Given the description of an element on the screen output the (x, y) to click on. 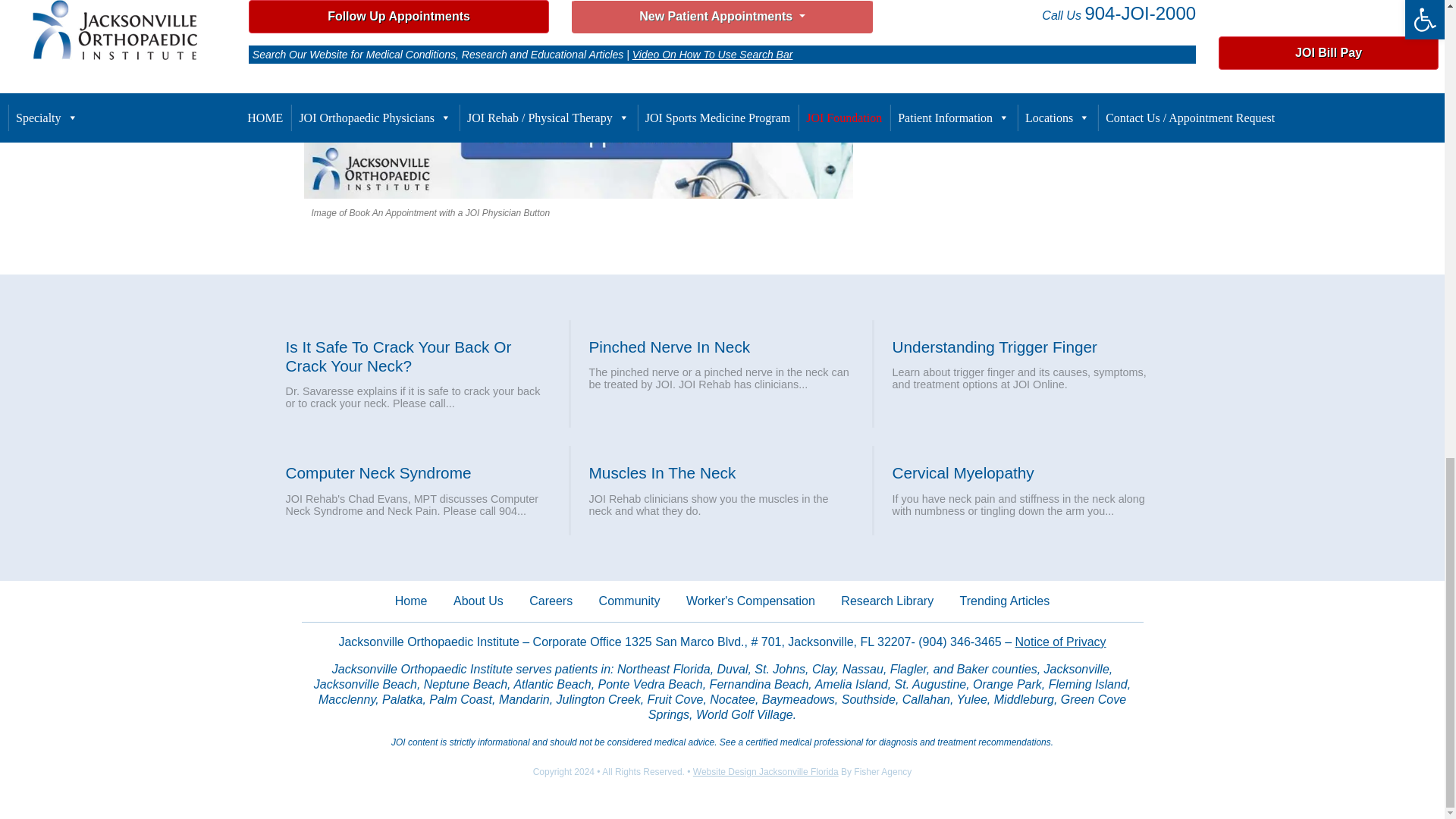
Google conversion frame (75, 803)
